Given the description of an element on the screen output the (x, y) to click on. 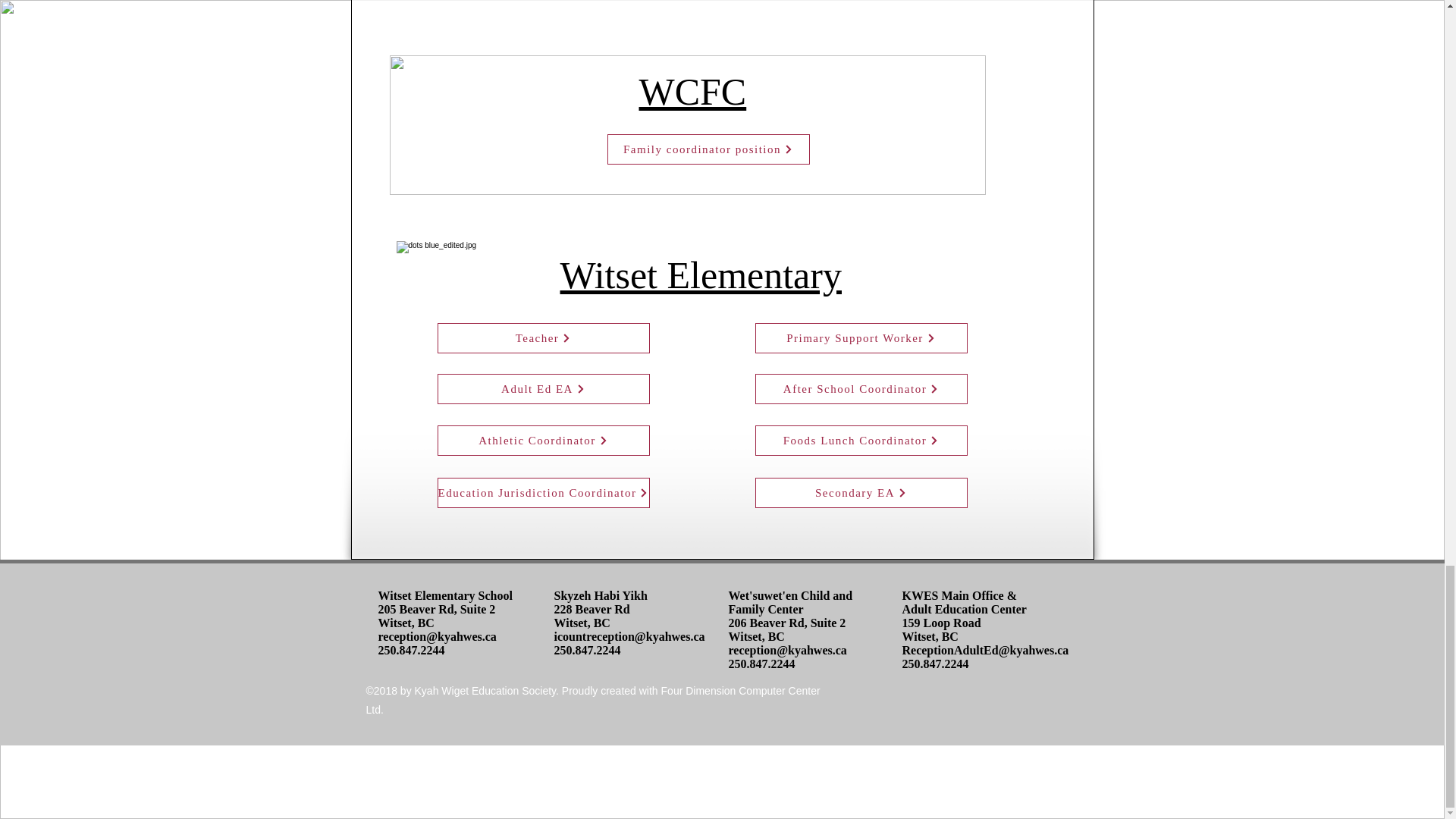
Primary Support Worker (861, 337)
Family coordinator position (708, 149)
Adult Ed EA (542, 388)
Teacher (542, 337)
